Given the description of an element on the screen output the (x, y) to click on. 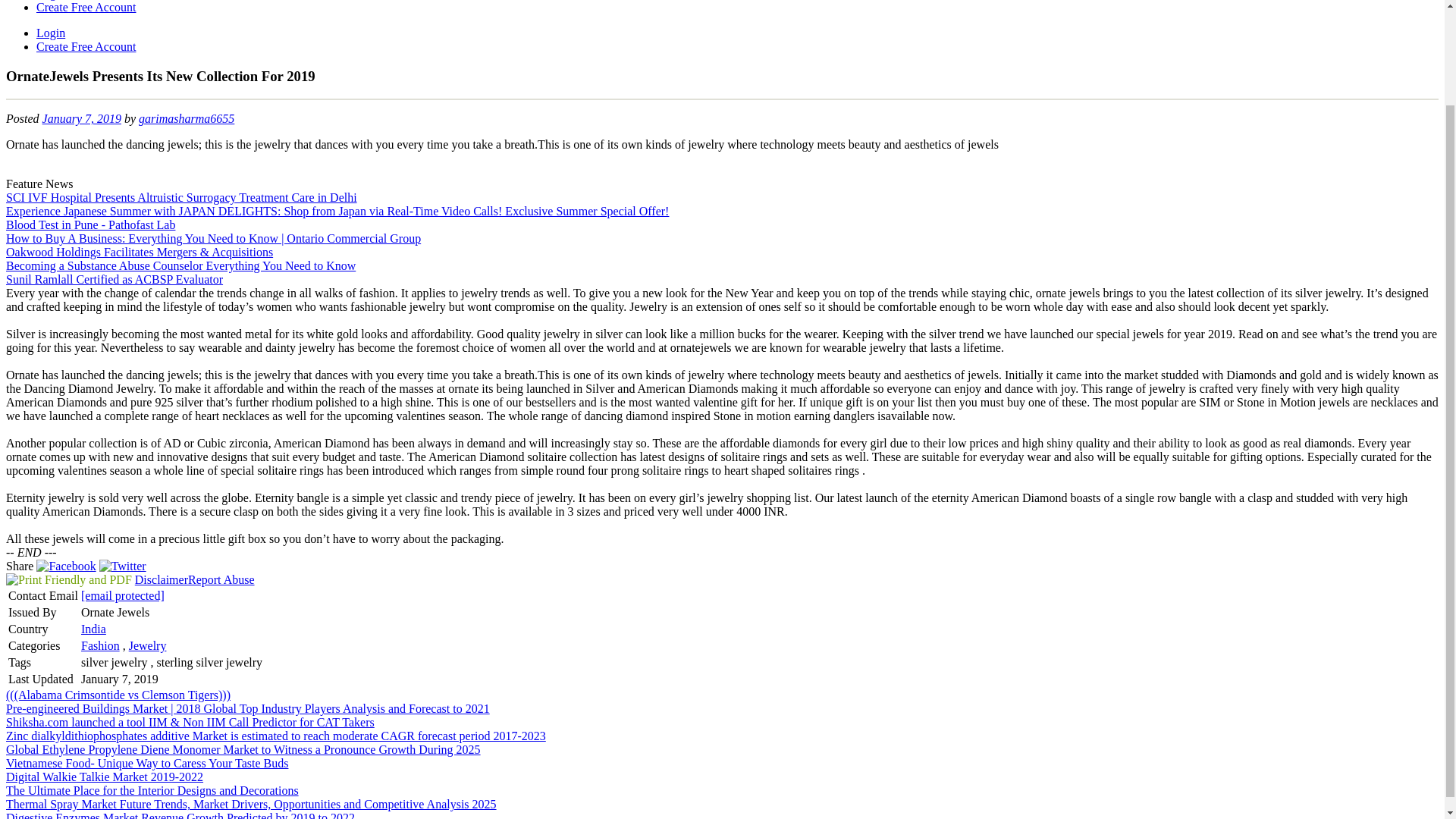
Jewelry (148, 645)
Fashion (100, 645)
Report Abuse (220, 579)
Create Free Account (86, 46)
Vietnamese Food- Unique Way to Caress Your Taste Buds (146, 762)
India (93, 628)
Create Free Account (86, 6)
Login (50, 32)
Sunil Ramlall Certified as ACBSP Evaluator (113, 278)
